Given the description of an element on the screen output the (x, y) to click on. 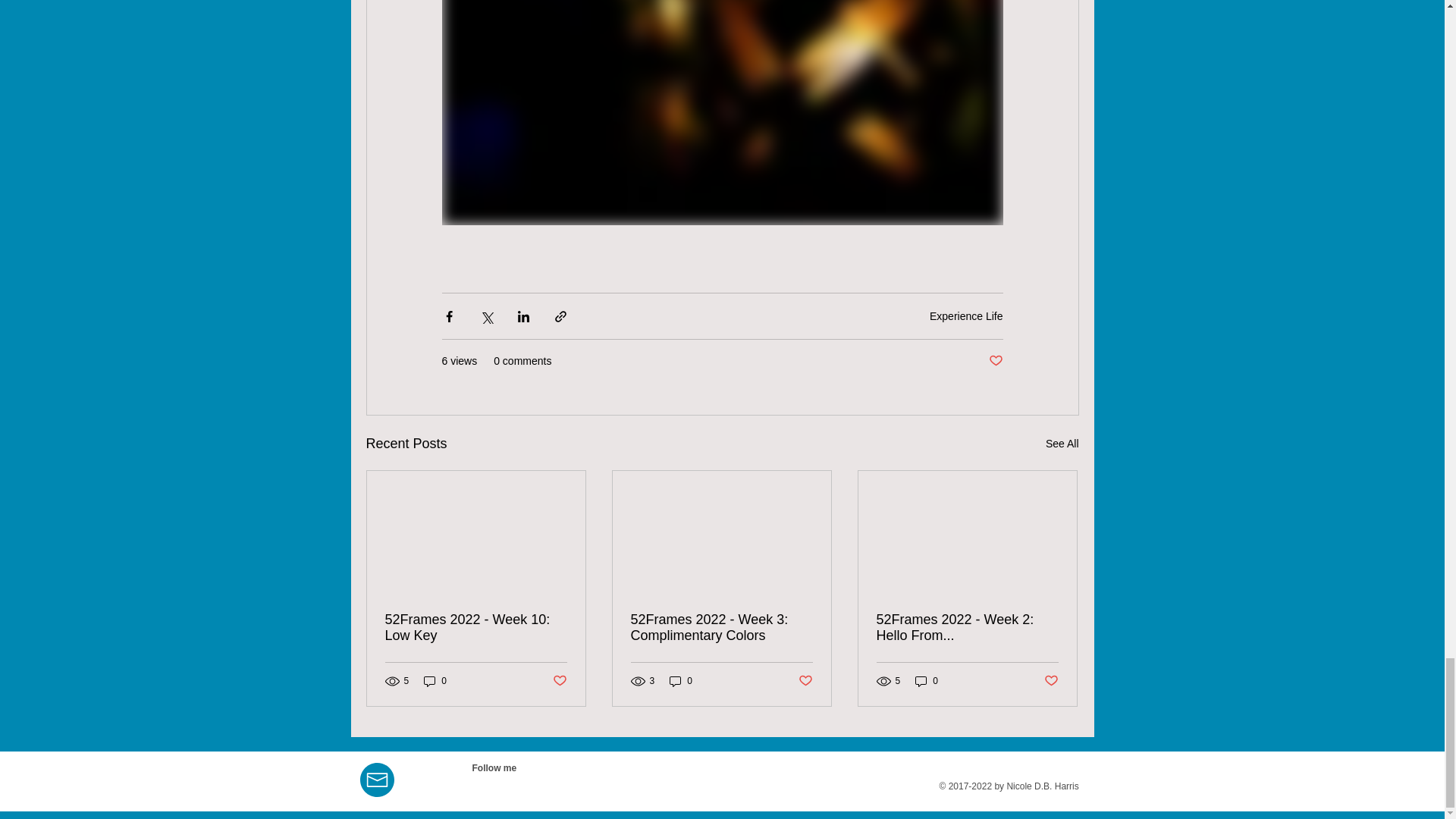
Experience Life (966, 316)
0 (435, 681)
See All (1061, 444)
Post not marked as liked (995, 360)
52Frames 2022 - Week 10: Low Key (476, 627)
